Given the description of an element on the screen output the (x, y) to click on. 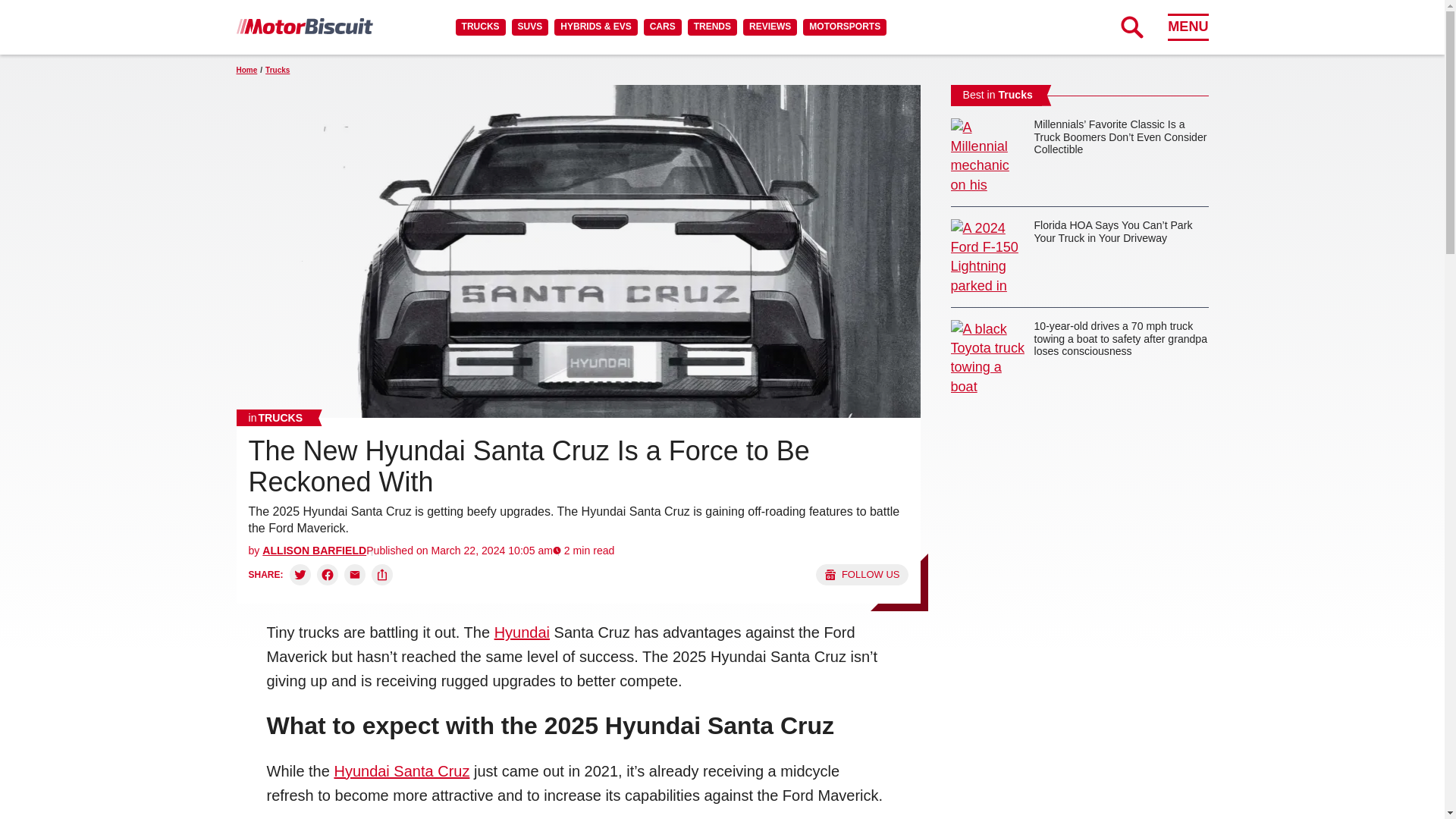
TRUCKS (480, 26)
Copy link and share:  (382, 574)
MOTORSPORTS (844, 26)
REVIEWS (769, 26)
Follow us on Google News (861, 574)
Expand Search (1131, 26)
Trucks (275, 417)
CARS (662, 26)
SUVS (530, 26)
MENU (1187, 26)
MotorBiscuit (303, 26)
TRENDS (711, 26)
